Given the description of an element on the screen output the (x, y) to click on. 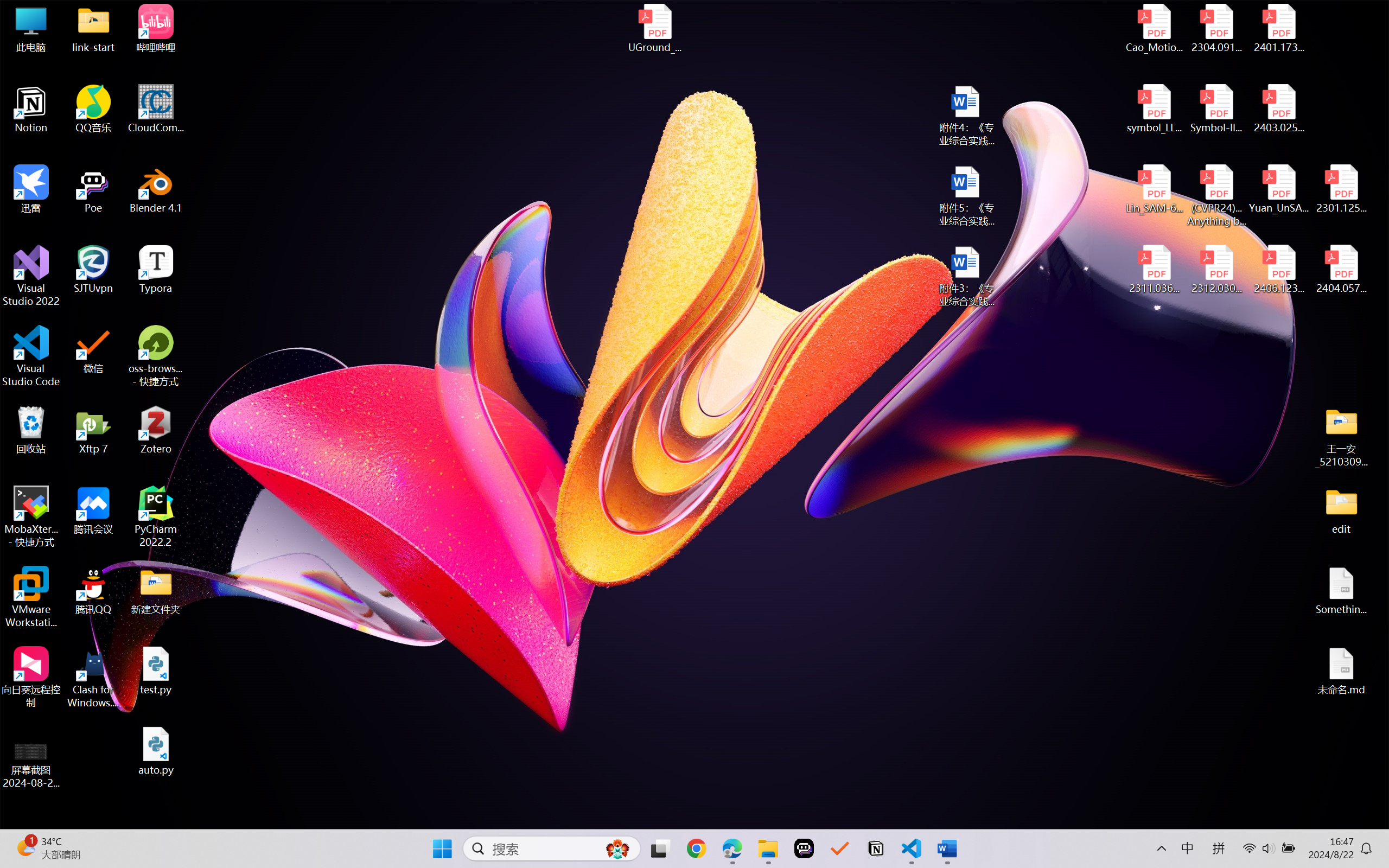
CRLF (818, 816)
Run Code (Ctrl+Alt+N) (1180, 57)
Ink Replay (617, 97)
Python (890, 816)
Undo Apply Quick Style (152, 19)
Pencil: Gray, 1 mm (270, 94)
Class: MsoCommandBar (694, 819)
